Given the description of an element on the screen output the (x, y) to click on. 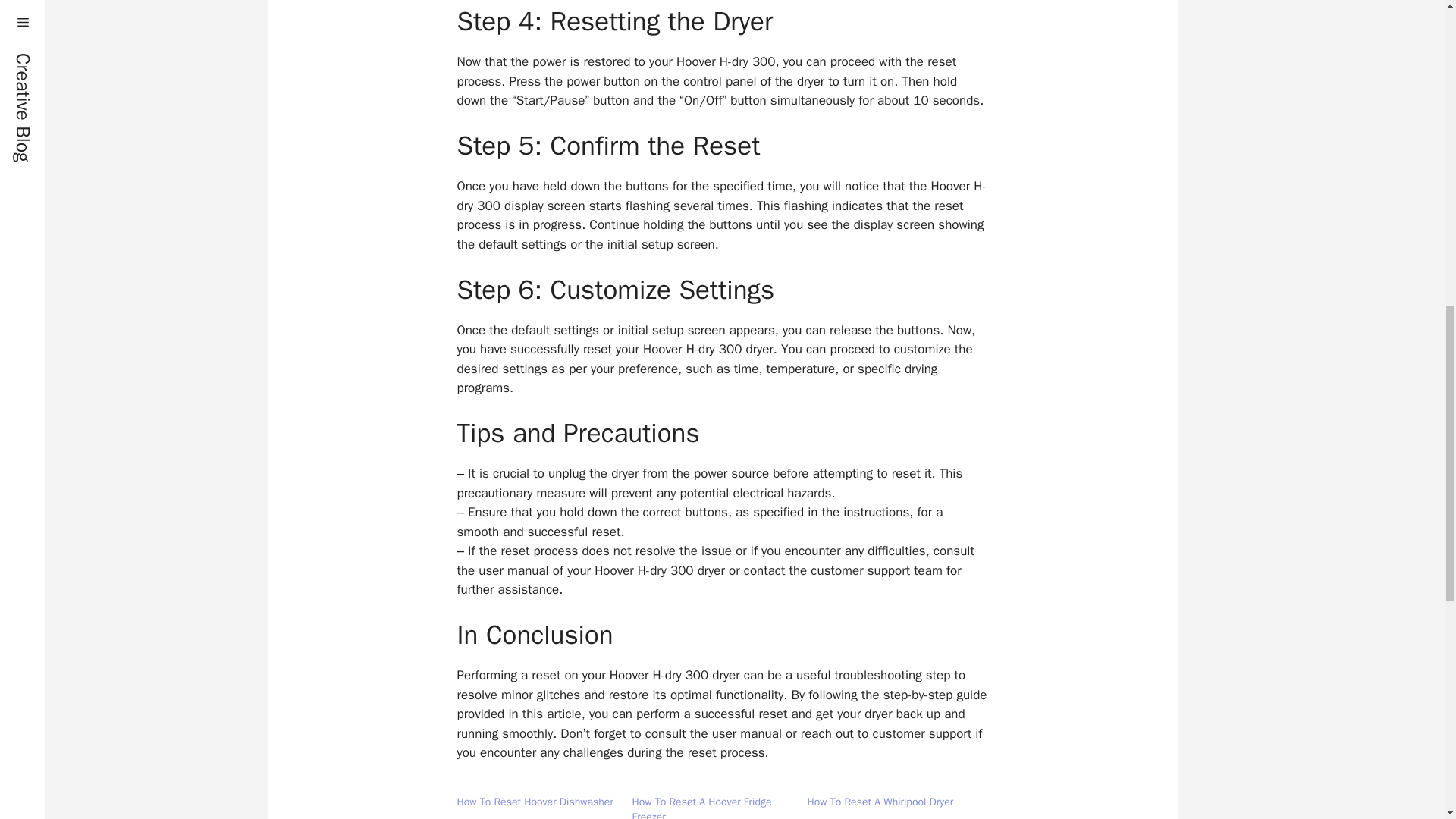
How To Reset A Hoover Fridge Freezer (701, 807)
How To Reset A Whirlpool Dryer (879, 801)
How To Reset Hoover Dishwasher (534, 801)
How To Reset A Hoover Fridge Freezer (701, 807)
How To Reset A Whirlpool Dryer (879, 801)
How To Reset Hoover Dishwasher (534, 801)
